Given the description of an element on the screen output the (x, y) to click on. 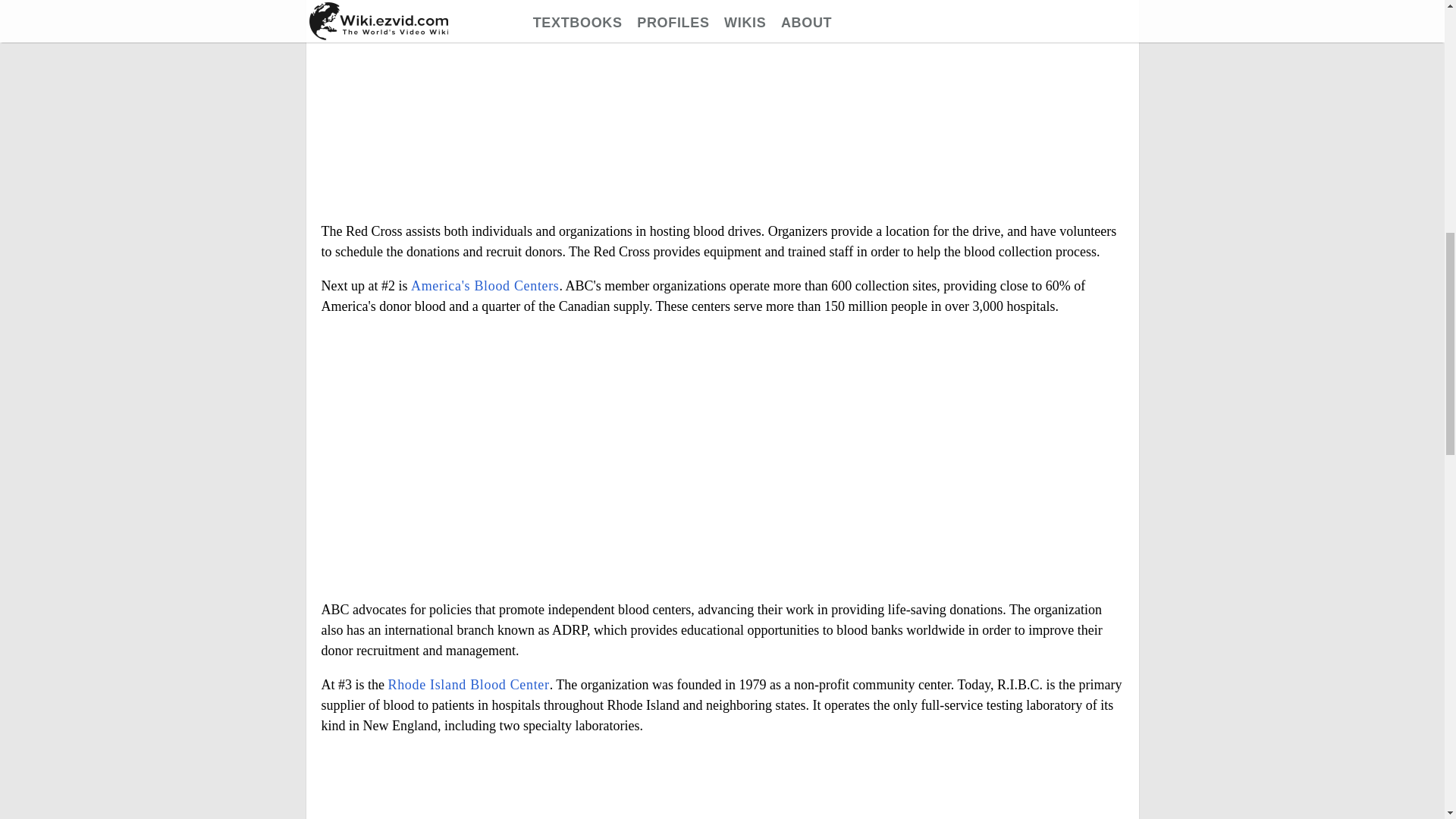
Rhode Island Blood Center (469, 684)
America's Blood Centers (484, 285)
